Given the description of an element on the screen output the (x, y) to click on. 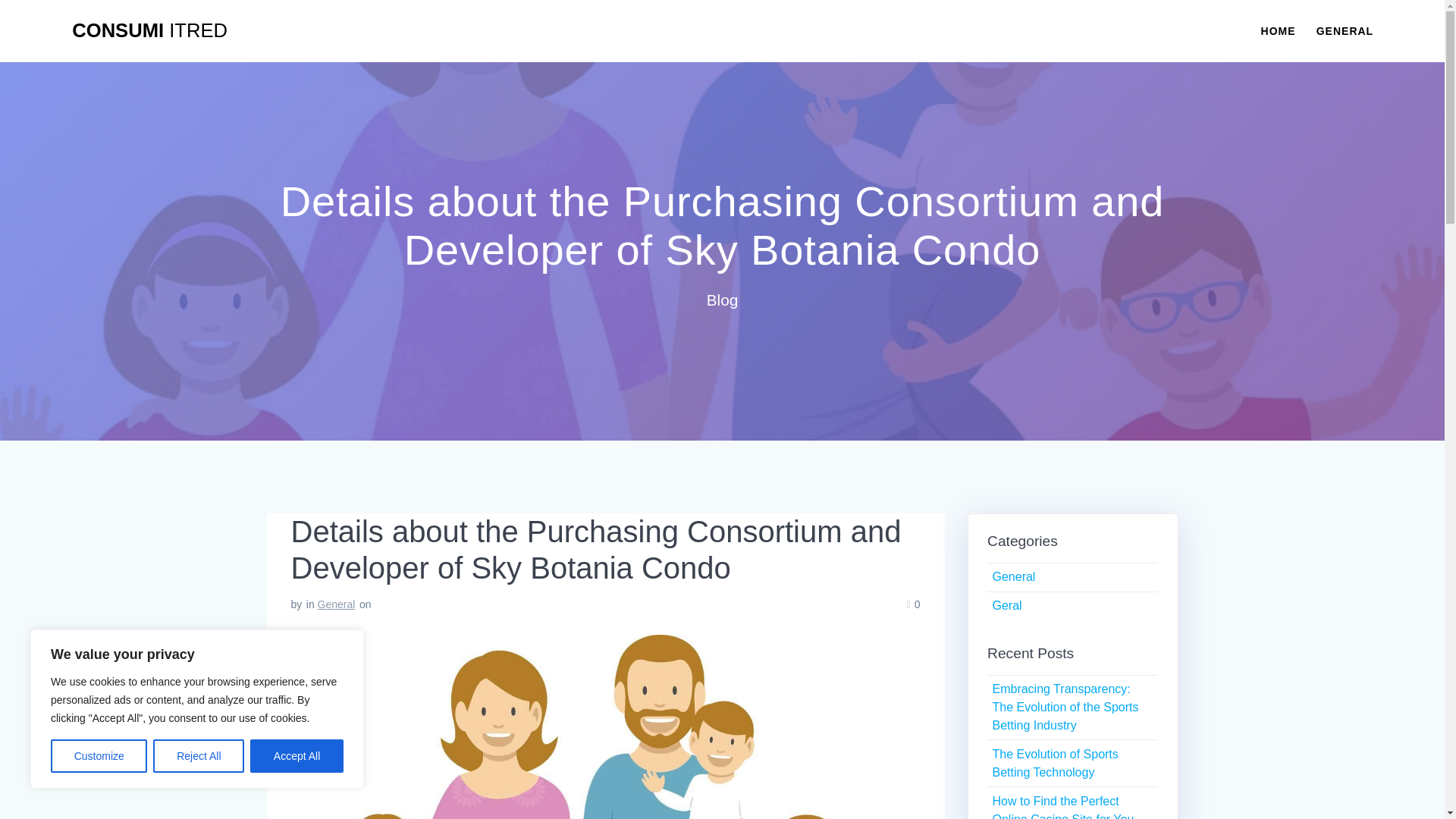
General (1013, 576)
How to Find the Perfect Online Casino Site for You (1062, 806)
CONSUMI ITRED (149, 30)
Geral (1006, 604)
GENERAL (1344, 30)
Customize (98, 756)
The Evolution of Sports Betting Technology (1054, 762)
Accept All (296, 756)
HOME (1277, 30)
General (336, 604)
Reject All (198, 756)
